Given the description of an element on the screen output the (x, y) to click on. 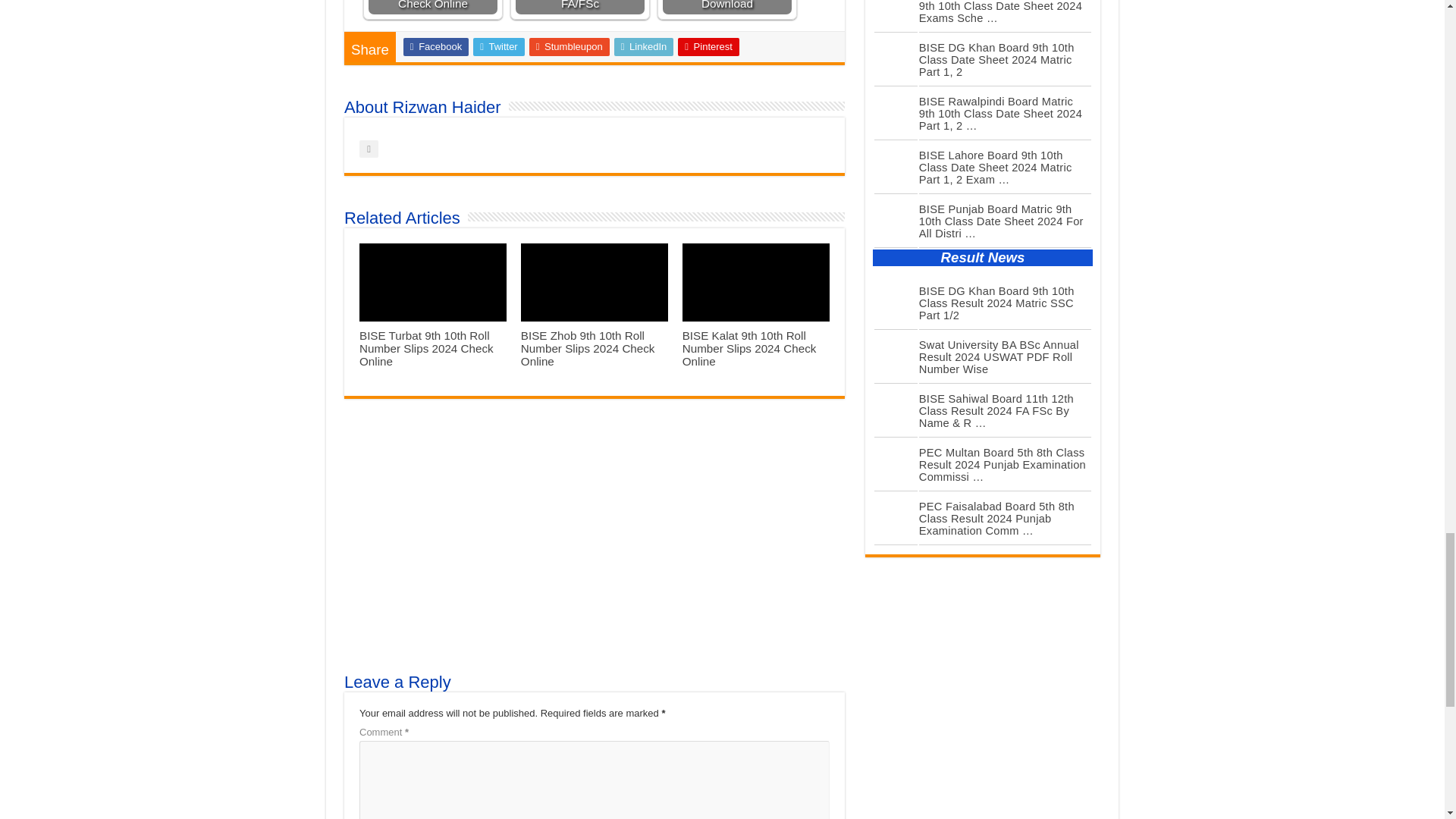
Facebook (435, 46)
Twitter (498, 46)
Advertisement (593, 535)
LinkedIn (644, 46)
Pinterest (708, 46)
BISE Loralai 9th 10th Roll Number Slips 2024 Check Online (432, 7)
Stumbleupon (569, 46)
BISE Exams Roll Number Slips 2024 Check Online Download (727, 7)
